Given the description of an element on the screen output the (x, y) to click on. 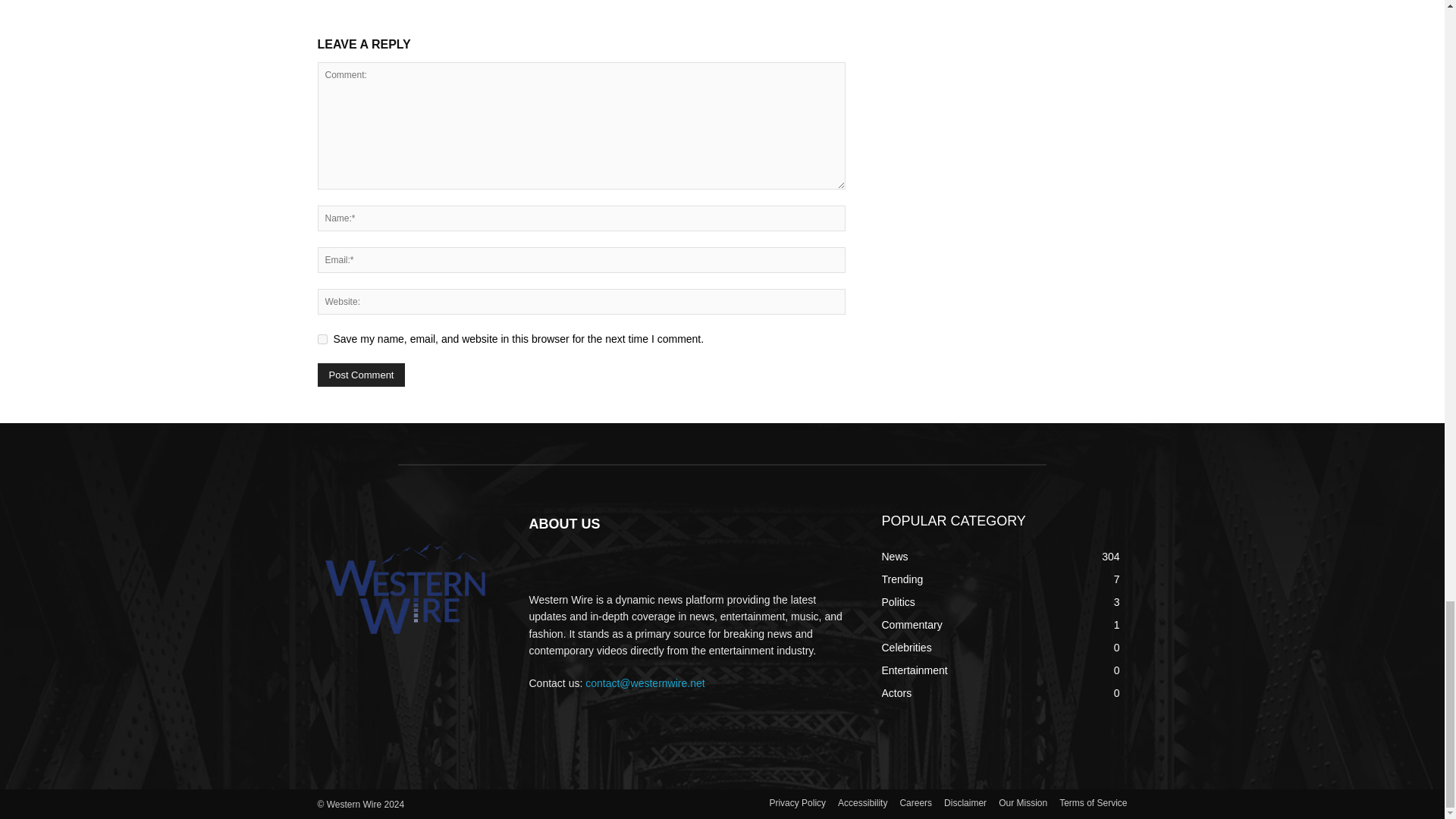
Post Comment (360, 374)
yes (321, 338)
